Given the description of an element on the screen output the (x, y) to click on. 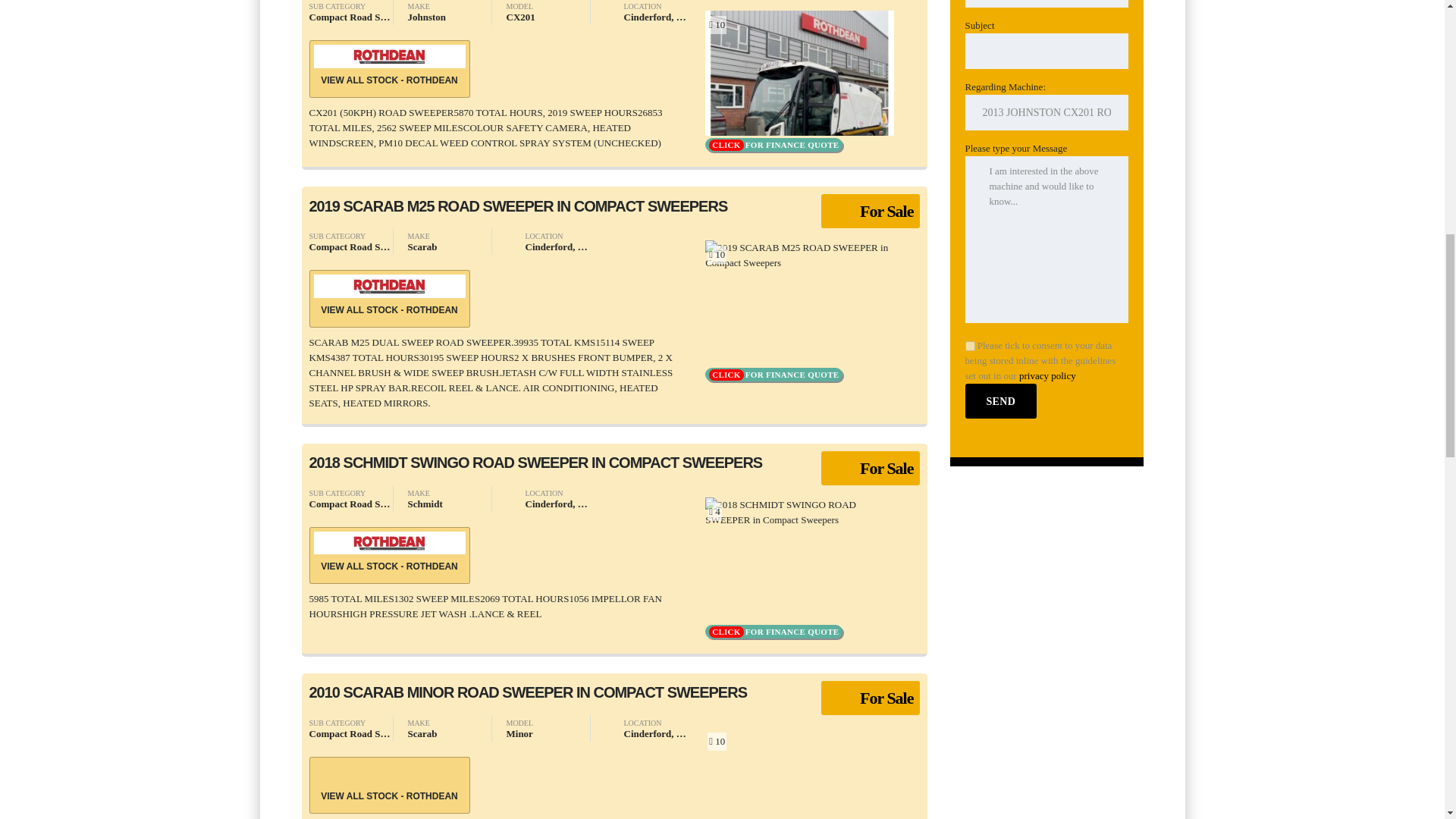
2013 JOHNSTON CX201 ROAD SWEEPER in Compact Sweepers (1044, 112)
Send (999, 401)
1 (968, 346)
